Given the description of an element on the screen output the (x, y) to click on. 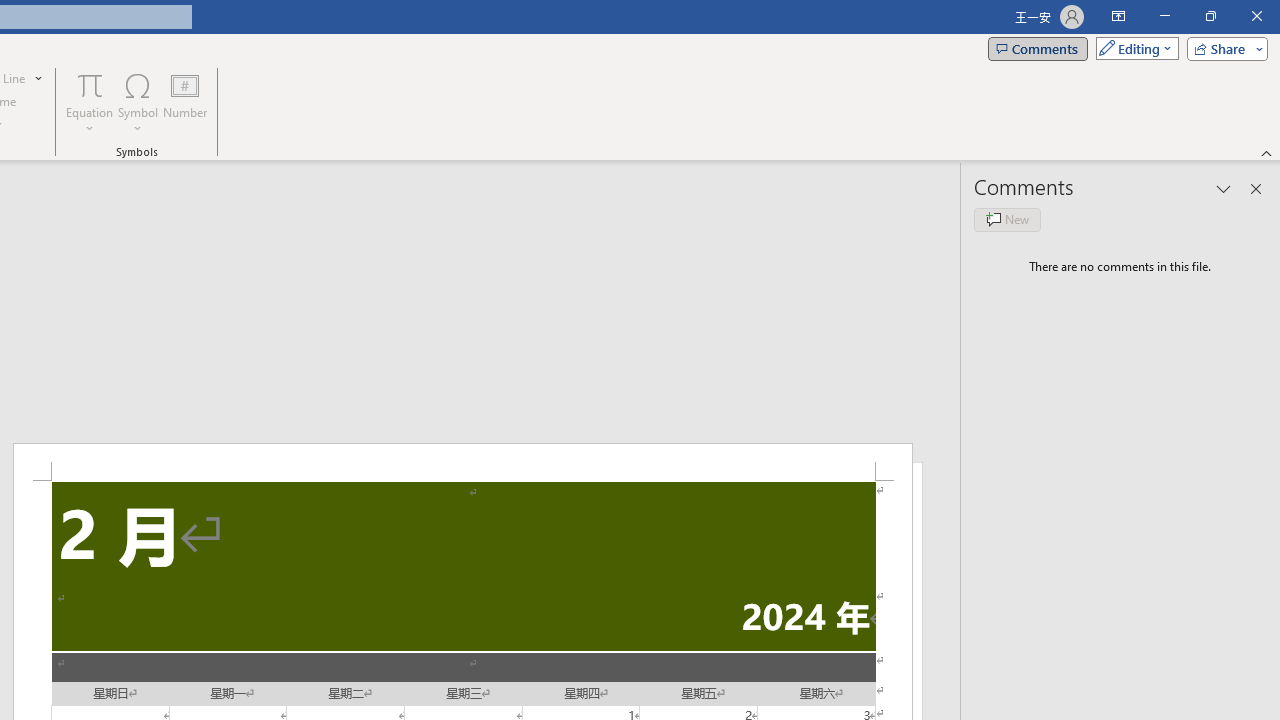
Equation (90, 102)
Collapse the Ribbon (1267, 152)
Restore Down (1210, 16)
Close pane (1256, 188)
